Given the description of an element on the screen output the (x, y) to click on. 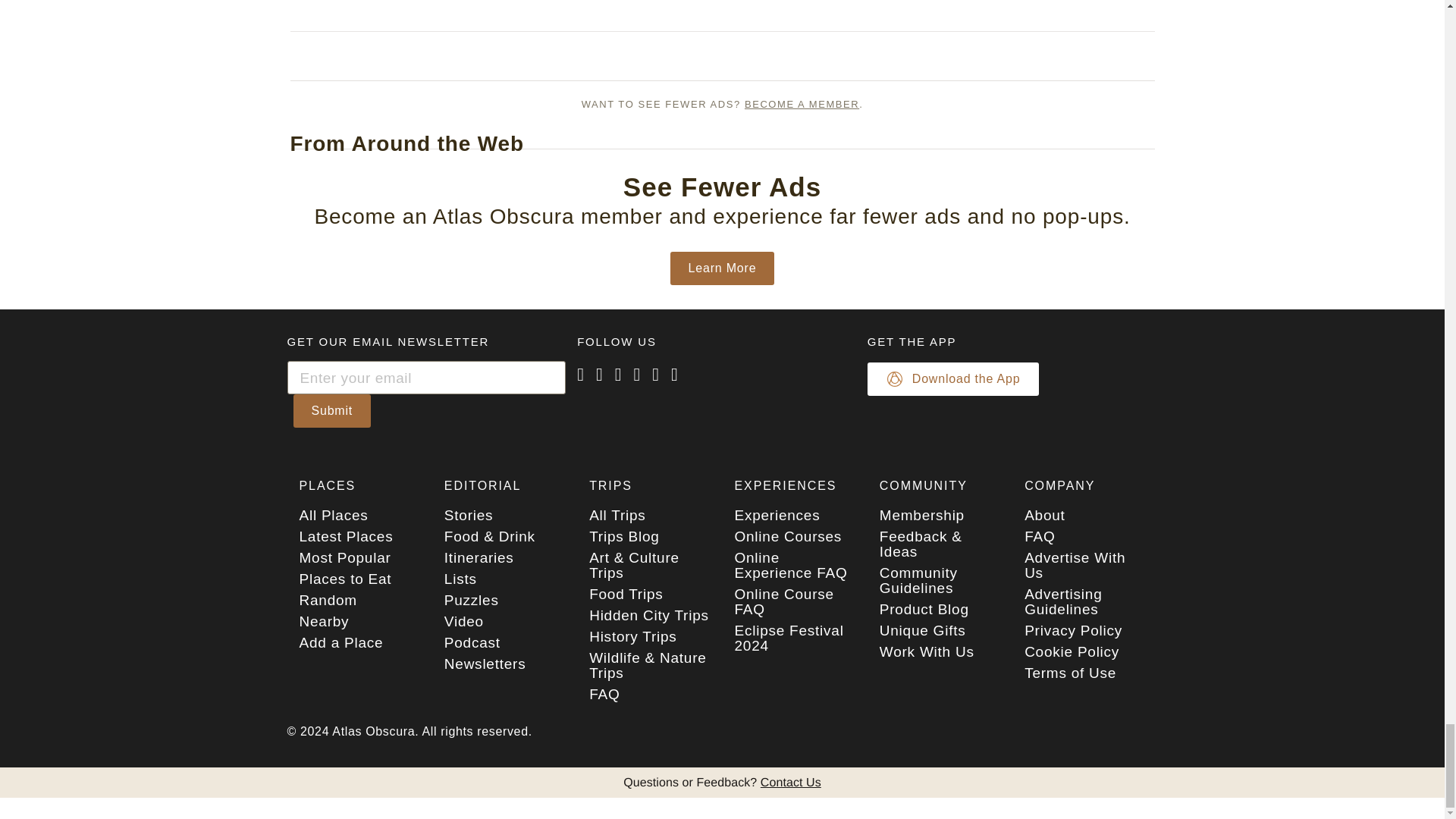
Submit (331, 410)
